Given the description of an element on the screen output the (x, y) to click on. 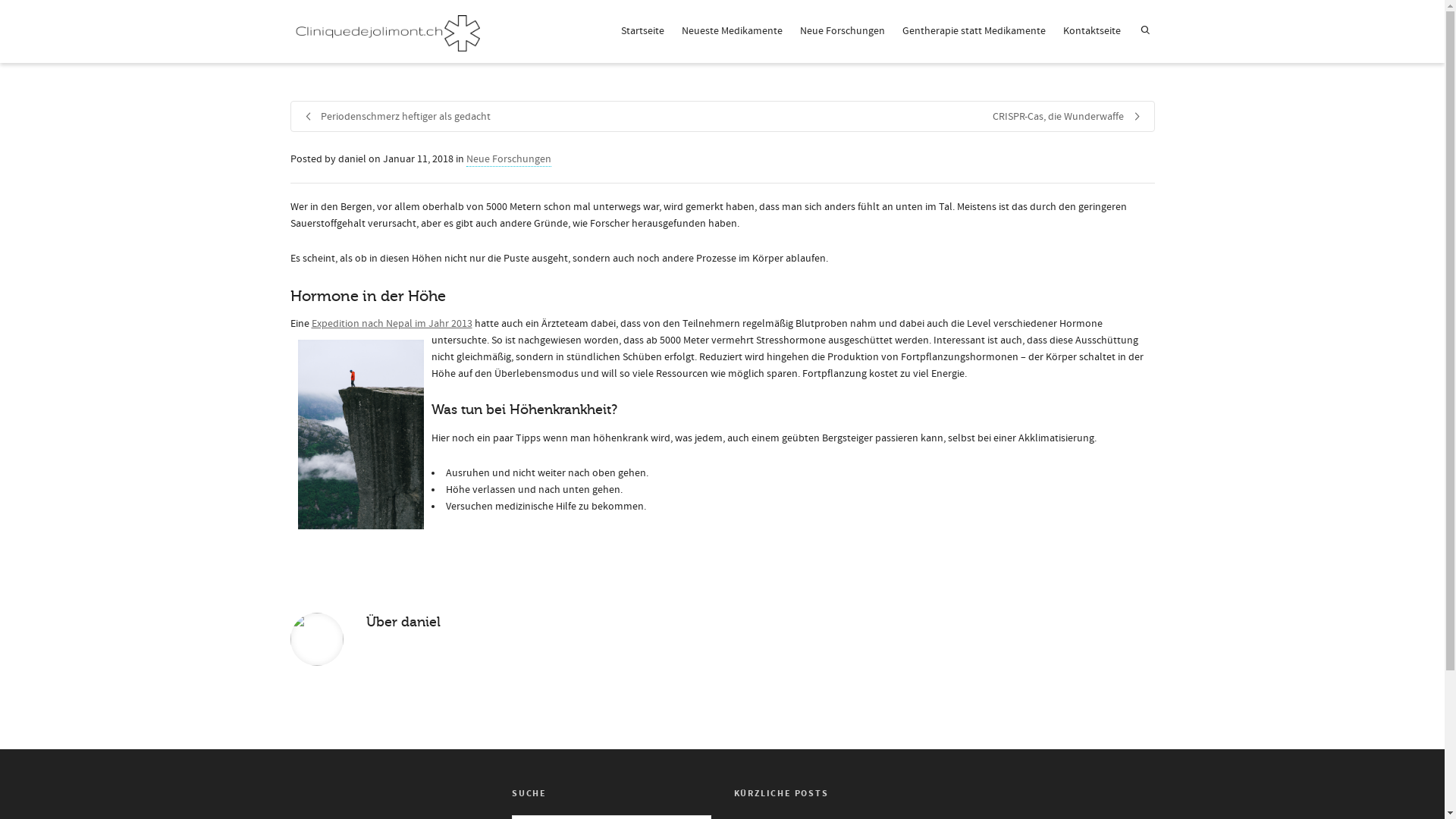
Gentherapie statt Medikamente Element type: text (973, 31)
Neue Forschungen Element type: text (507, 159)
CRISPR-Cas, die Wunderwaffe Element type: text (937, 116)
Periodenschmerz heftiger als gedacht Element type: text (506, 116)
Expedition nach Nepal im Jahr 2013 Element type: text (390, 323)
Neue Forschungen Element type: text (841, 31)
Neueste Medikamente Element type: text (730, 31)
Kontaktseite Element type: text (1091, 31)
Startseite Element type: text (641, 31)
